Given the description of an element on the screen output the (x, y) to click on. 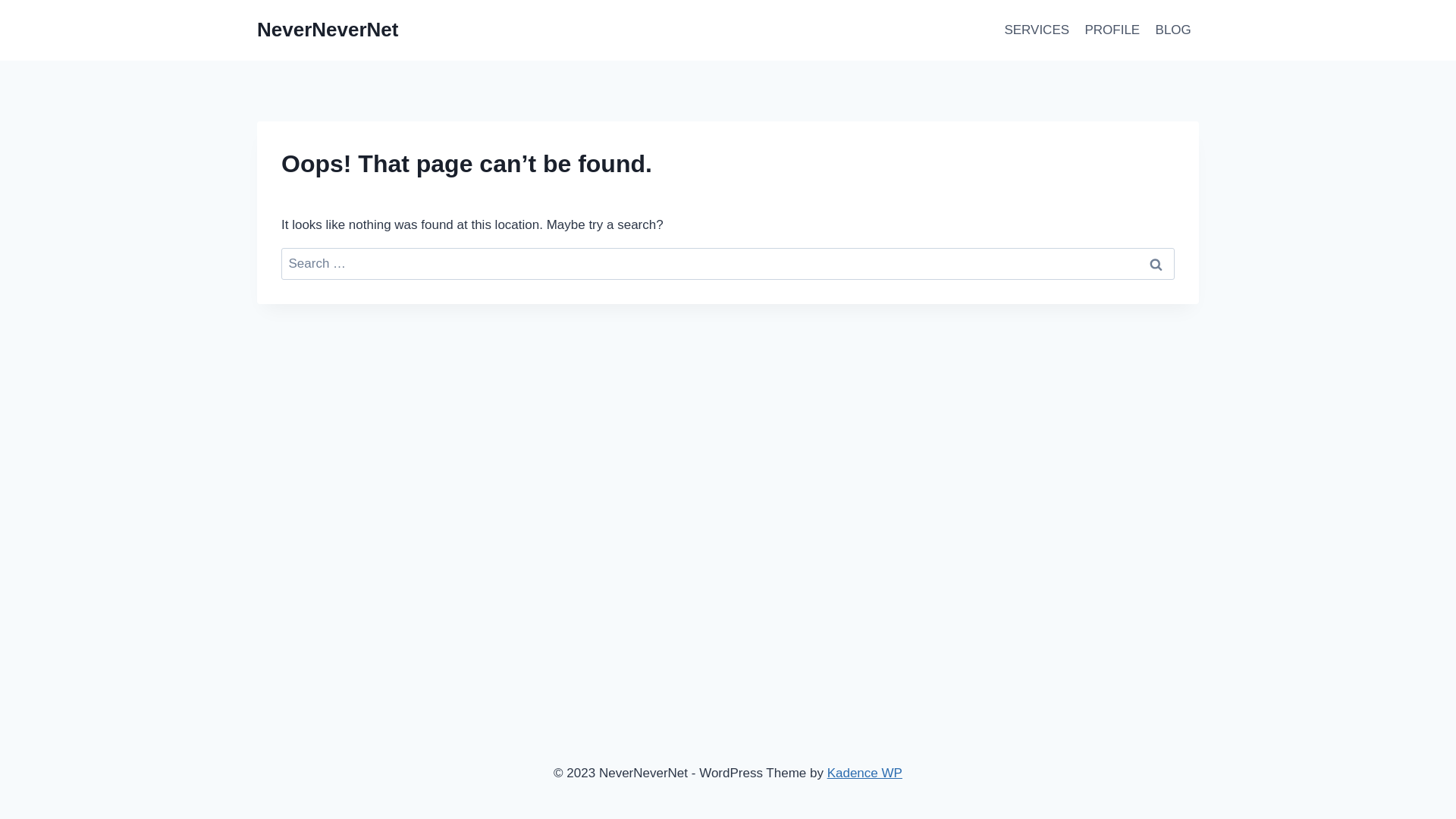
SERVICES Element type: text (1036, 30)
Kadence WP Element type: text (864, 772)
PROFILE Element type: text (1111, 30)
NeverNeverNet Element type: text (327, 29)
BLOG Element type: text (1172, 30)
Search Element type: text (1155, 263)
